Given the description of an element on the screen output the (x, y) to click on. 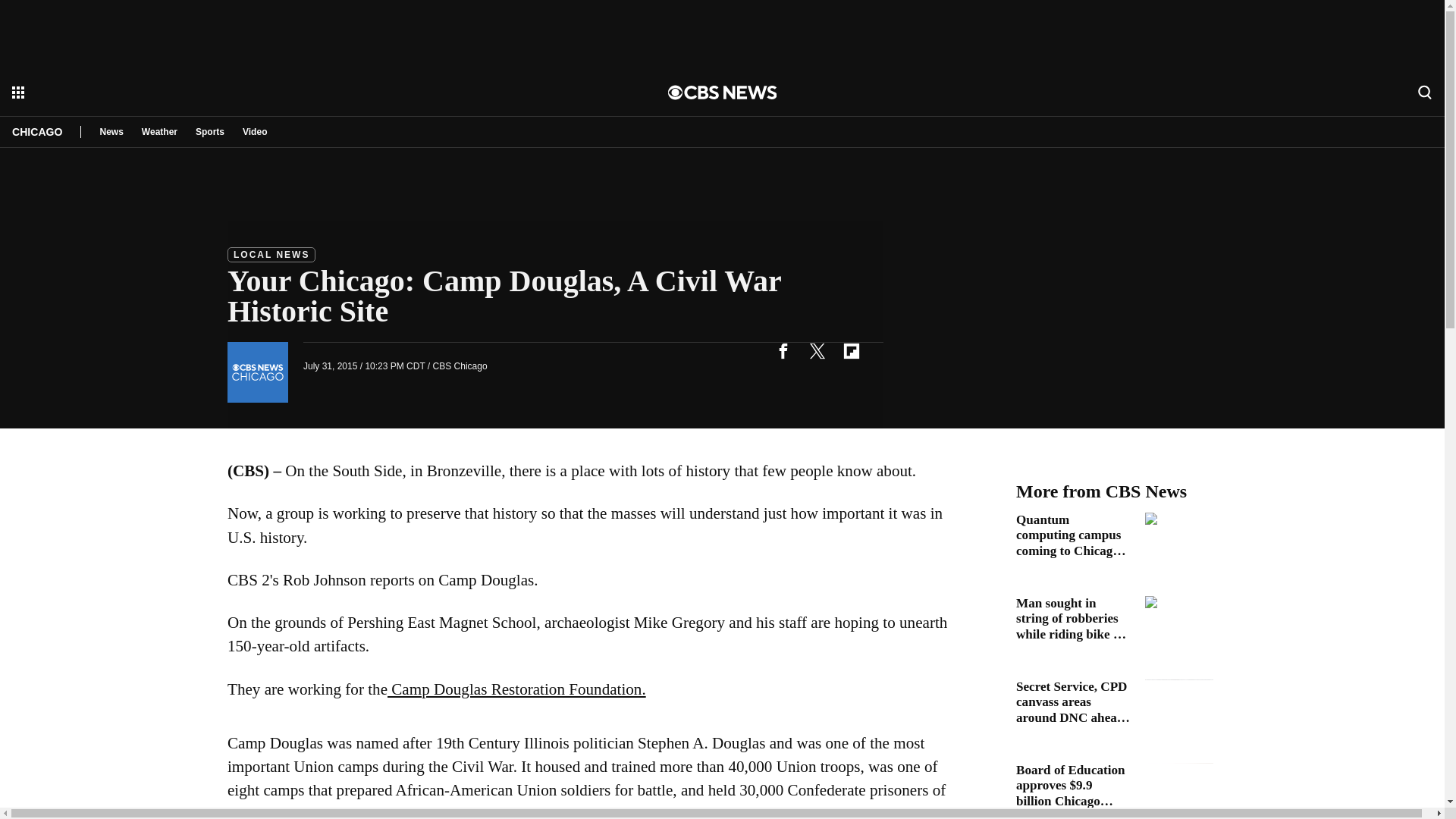
flipboard (850, 350)
twitter (816, 350)
facebook (782, 350)
